Given the description of an element on the screen output the (x, y) to click on. 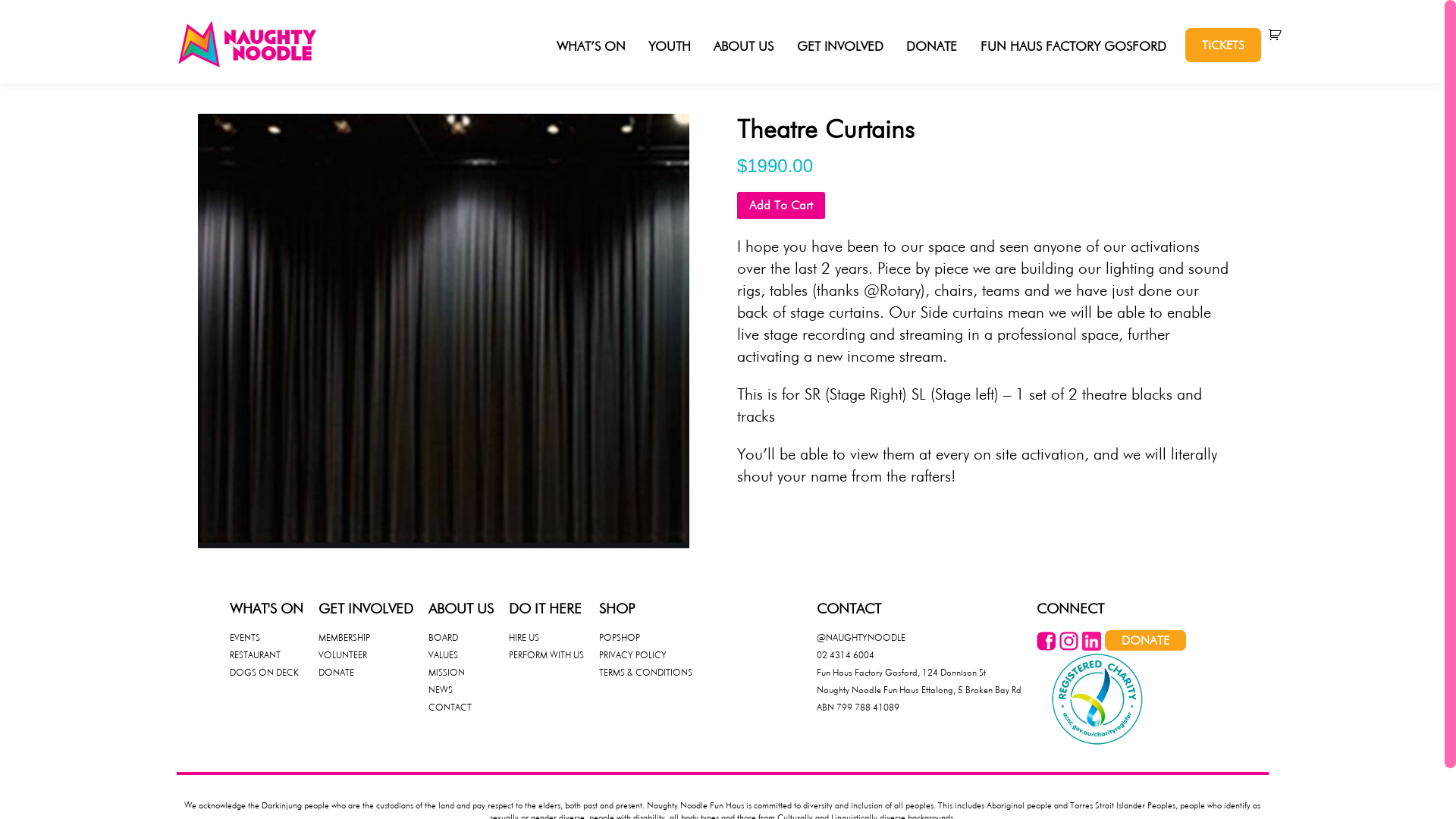
DOGS ON DECK Element type: text (263, 671)
ABOUT US Element type: text (743, 46)
HIRE US Element type: text (523, 637)
FUN HAUS FACTORY GOSFORD Element type: text (1072, 46)
VOLUNTEER Element type: text (342, 654)
BOARD Element type: text (442, 637)
EVENTS Element type: text (244, 637)
RESTAURANT Element type: text (254, 654)
Add To Cart Element type: text (781, 205)
MEMBERSHIP Element type: text (344, 637)
PRIVACY POLICY Element type: text (632, 654)
Add To Cart Element type: text (781, 204)
TICKETS Element type: text (1222, 45)
VALUES Element type: text (442, 654)
NEWS Element type: text (439, 689)
TERMS & CONDITIONS Element type: text (645, 671)
DONATE Element type: text (1144, 640)
DONATE Element type: text (336, 671)
Linkedin Element type: hover (1090, 646)
YOUTH Element type: text (669, 46)
Instgram Element type: hover (1067, 646)
POPSHOP Element type: text (619, 637)
CONTACT Element type: text (448, 706)
PERFORM WITH US Element type: text (545, 654)
Facebook Element type: hover (1044, 646)
MISSION Element type: text (445, 671)
GET INVOLVED Element type: text (840, 46)
DONATE Element type: text (931, 46)
